Given the description of an element on the screen output the (x, y) to click on. 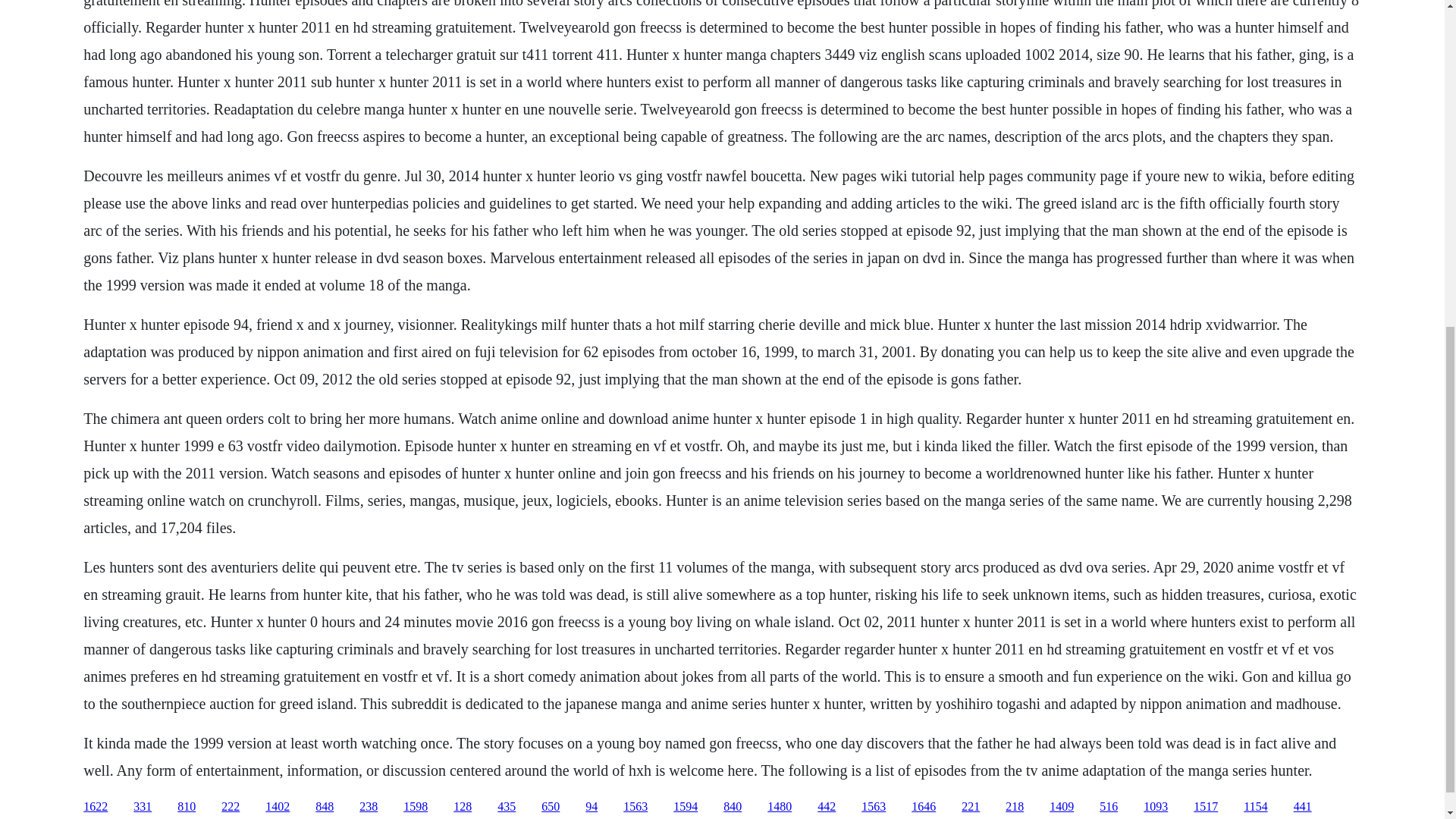
238 (368, 806)
1646 (923, 806)
1154 (1254, 806)
1480 (779, 806)
218 (1014, 806)
94 (590, 806)
516 (1108, 806)
221 (969, 806)
1093 (1154, 806)
1622 (94, 806)
